Given the description of an element on the screen output the (x, y) to click on. 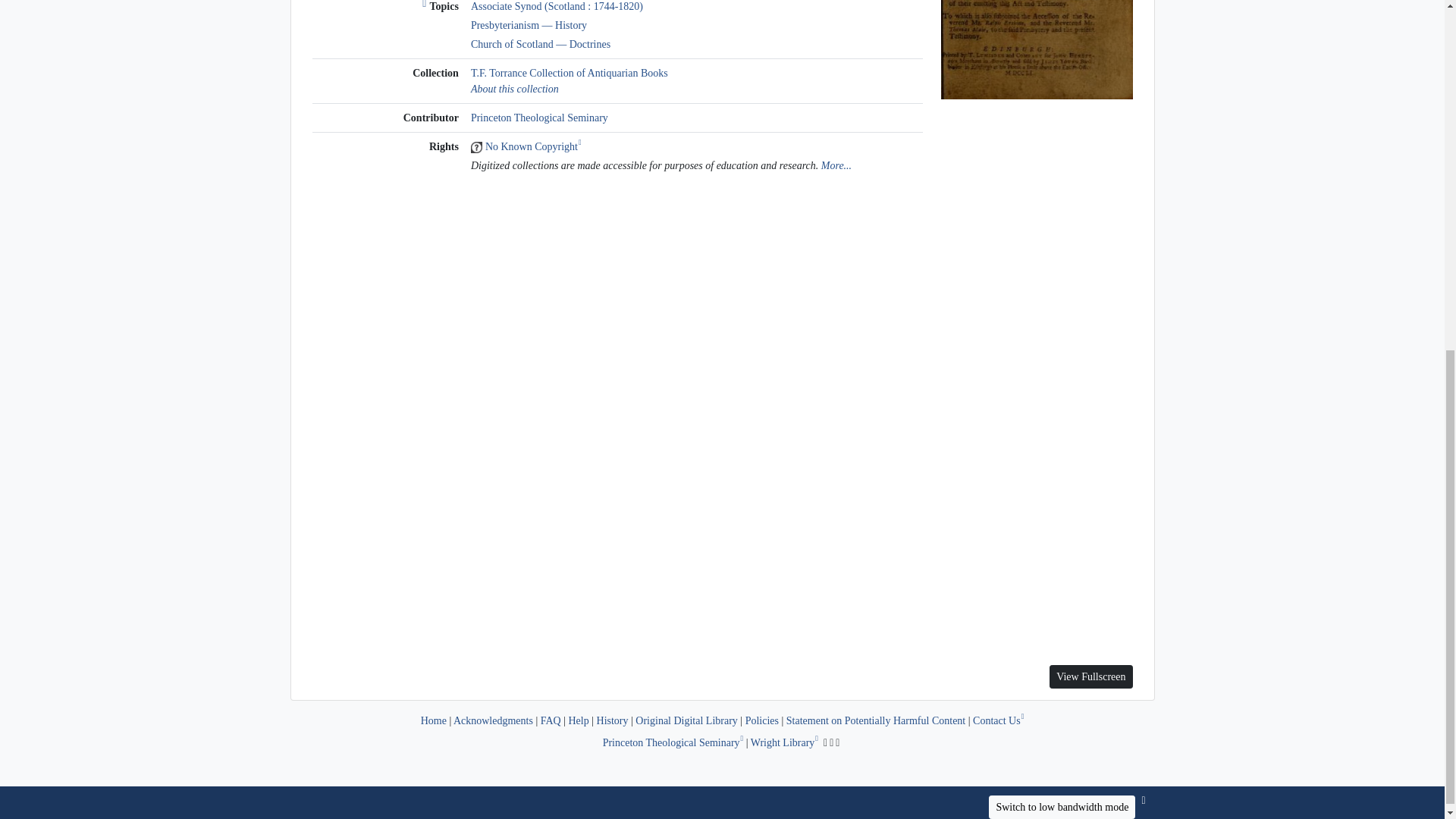
T.F. Torrance Collection of Antiquarian Books (569, 72)
View all items with this topic (556, 6)
What is this? (425, 6)
About this collection (514, 89)
More... (836, 165)
Princeton Theological Seminary (539, 117)
No Known Copyright (531, 146)
